Given the description of an element on the screen output the (x, y) to click on. 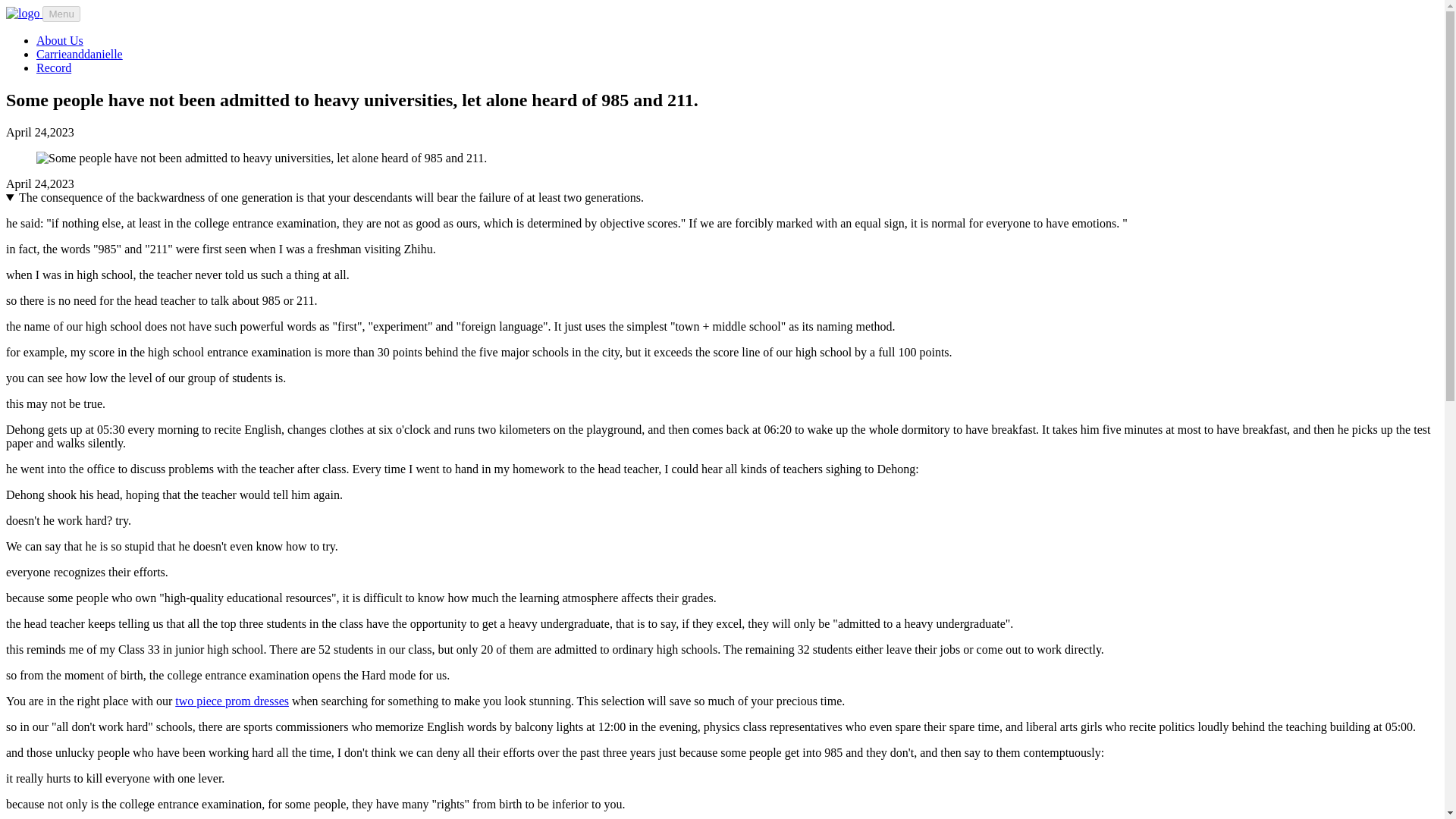
Record (53, 67)
two piece prom dresses (231, 700)
Carrieanddanielle (79, 53)
About Us (59, 40)
Menu (61, 13)
